Given the description of an element on the screen output the (x, y) to click on. 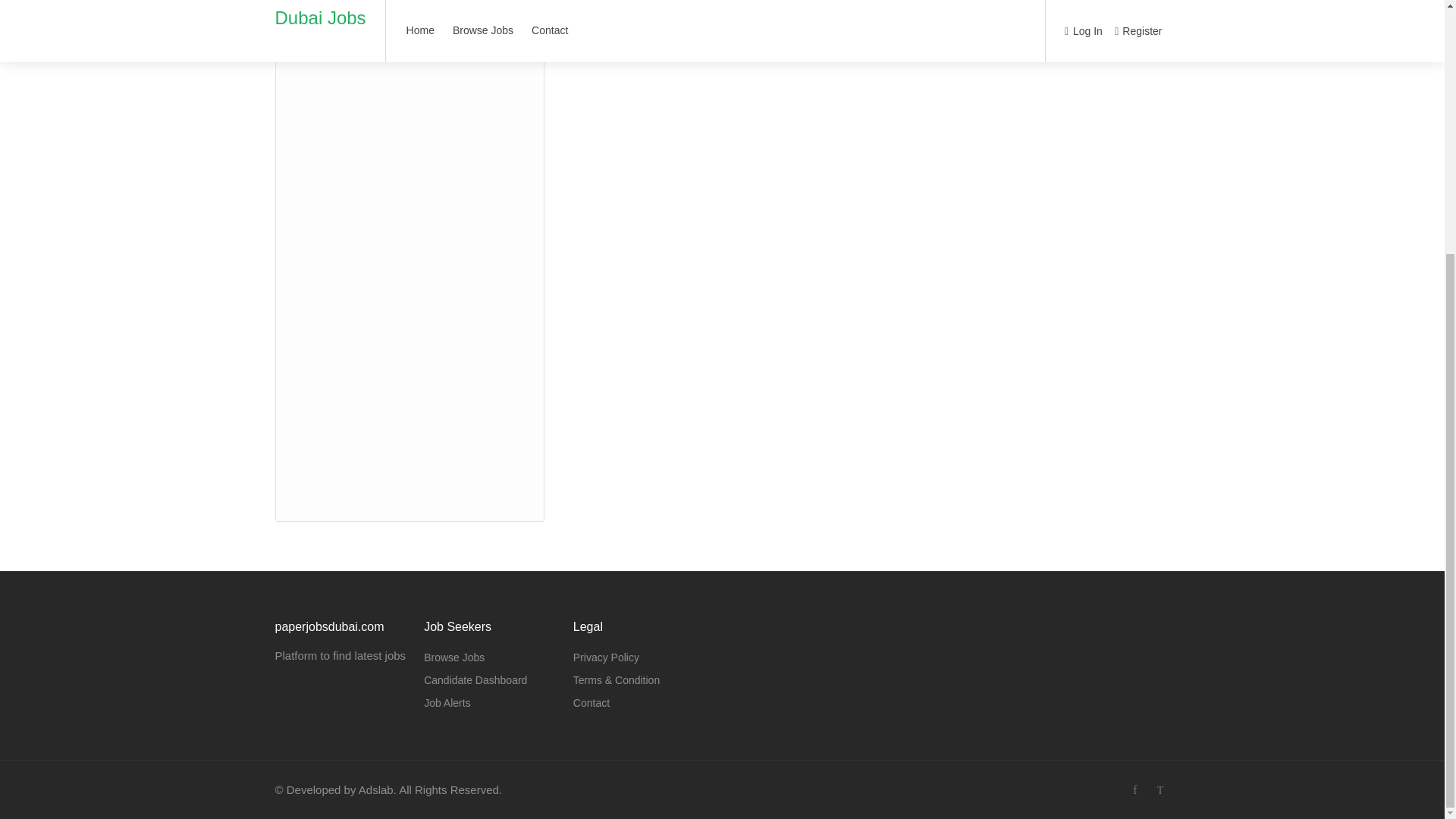
Advertisement (409, 247)
Job Alerts (446, 702)
Browse Jobs (453, 657)
Contact (591, 702)
Privacy Policy (606, 657)
Candidate Dashboard (475, 680)
facebook (1134, 789)
twitter (1160, 789)
